Given the description of an element on the screen output the (x, y) to click on. 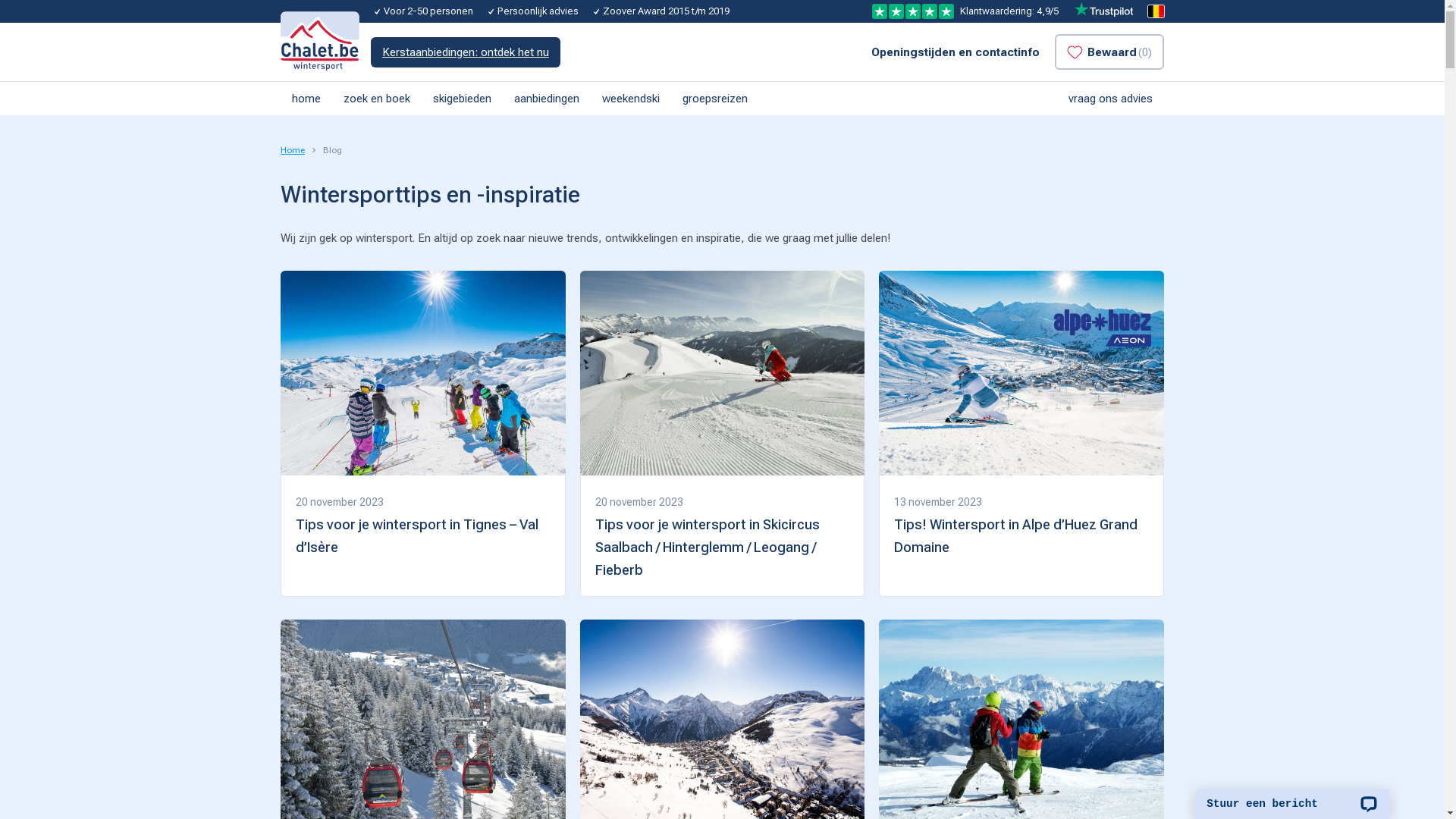
Bewaard0 Element type: text (1109, 51)
Home Element type: text (292, 150)
skigebieden Element type: text (461, 97)
weekendski Element type: text (630, 97)
aanbiedingen Element type: text (546, 97)
groepsreizen Element type: text (715, 97)
home Element type: text (306, 97)
Klantwaardering: 4,9/5 Element type: text (1002, 11)
Kerstaanbiedingen: ontdek het nu Element type: text (465, 51)
Huidige taal: Nederlands Element type: text (1155, 11)
vraag ons advies Element type: text (1110, 97)
Openingstijden en contactinfo Element type: text (955, 52)
zoek en boek Element type: text (376, 97)
